Given the description of an element on the screen output the (x, y) to click on. 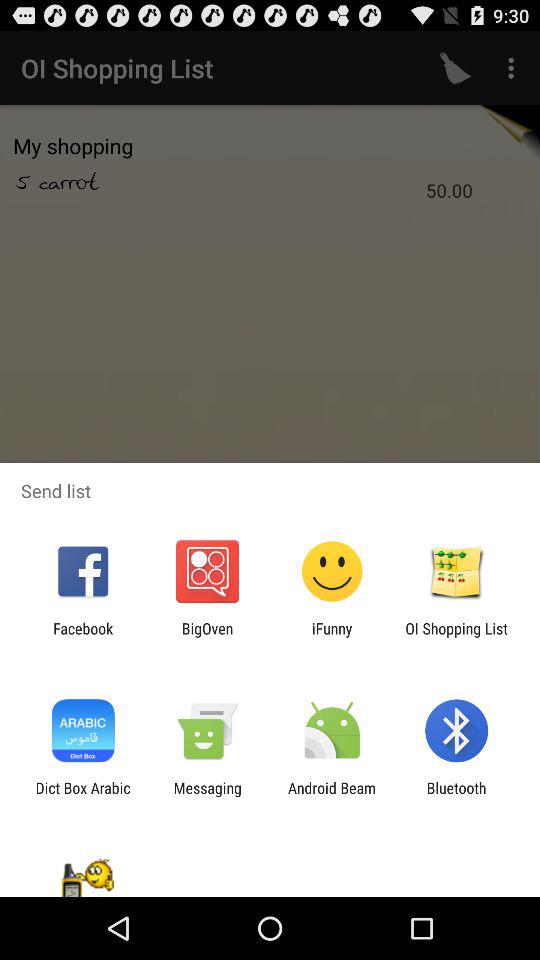
scroll until facebook (83, 637)
